Given the description of an element on the screen output the (x, y) to click on. 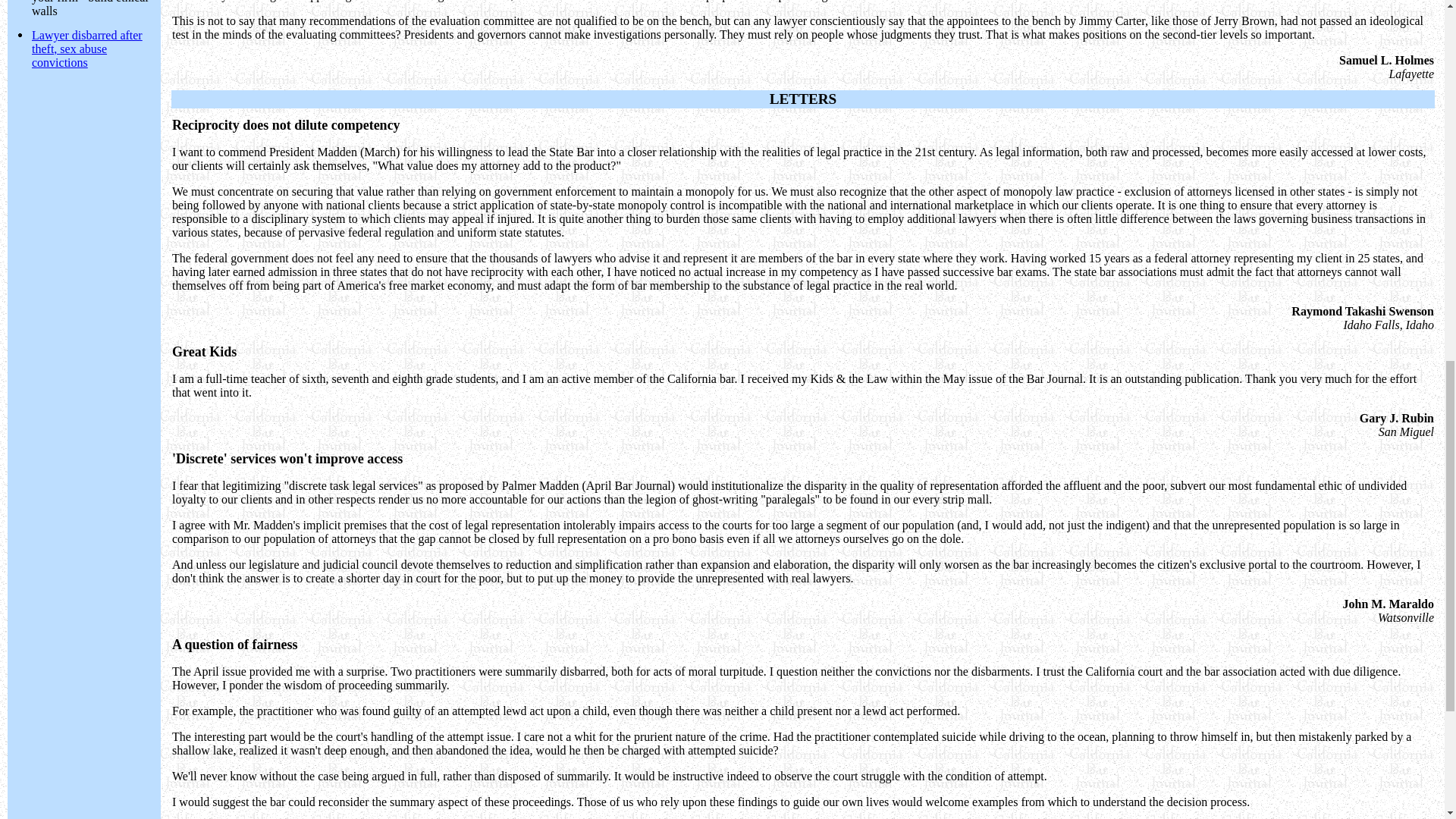
Lawyer disbarred after theft, sex abuse convictions (87, 48)
